Given the description of an element on the screen output the (x, y) to click on. 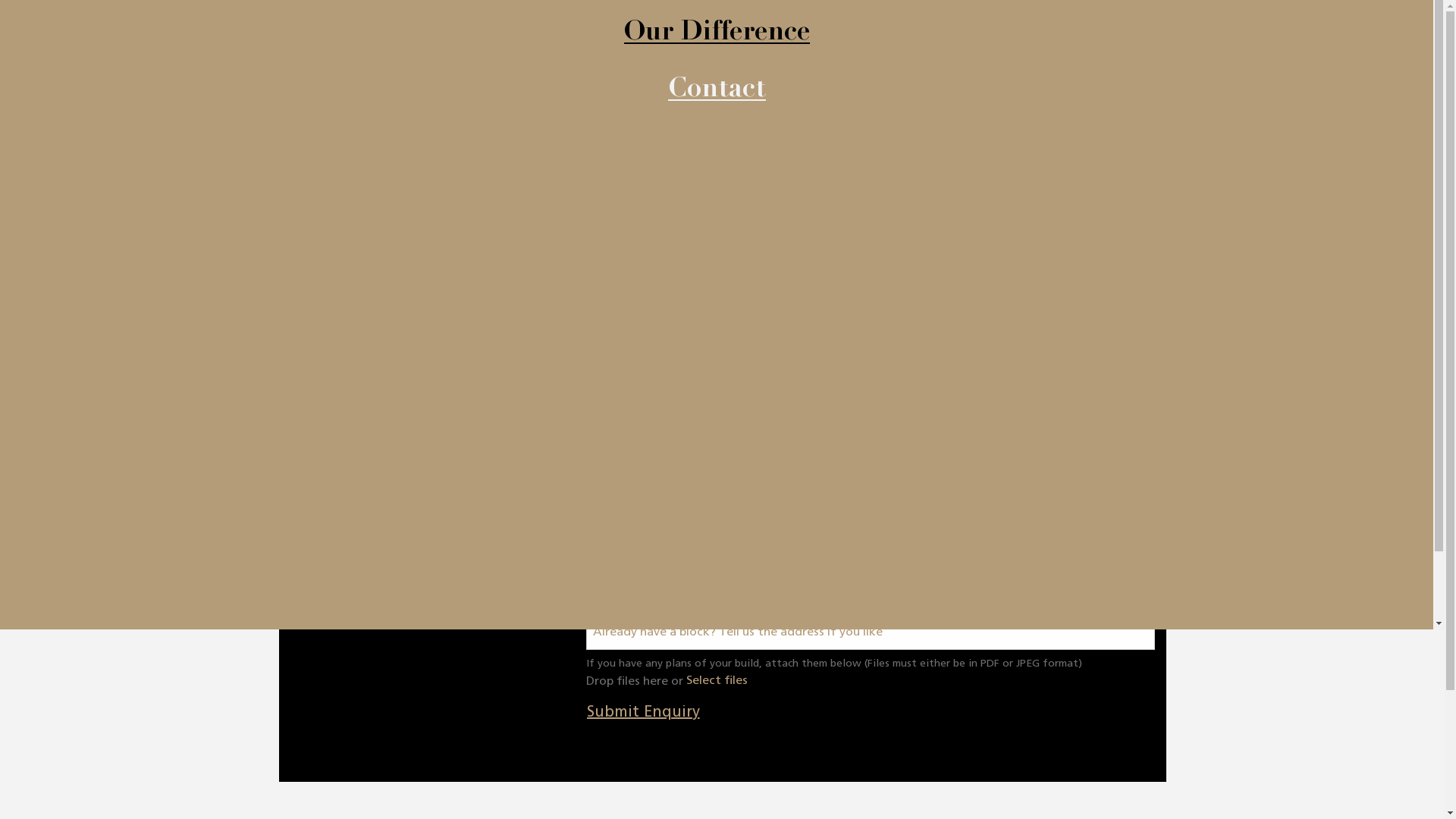
Contact Element type: text (716, 91)
Submit Enquiry Element type: text (642, 712)
walter@furlan.com.au Element type: text (870, 166)
Menu Element type: text (286, 37)
Our Difference Element type: text (716, 34)
0402-309-287 Element type: text (818, 126)
